Given the description of an element on the screen output the (x, y) to click on. 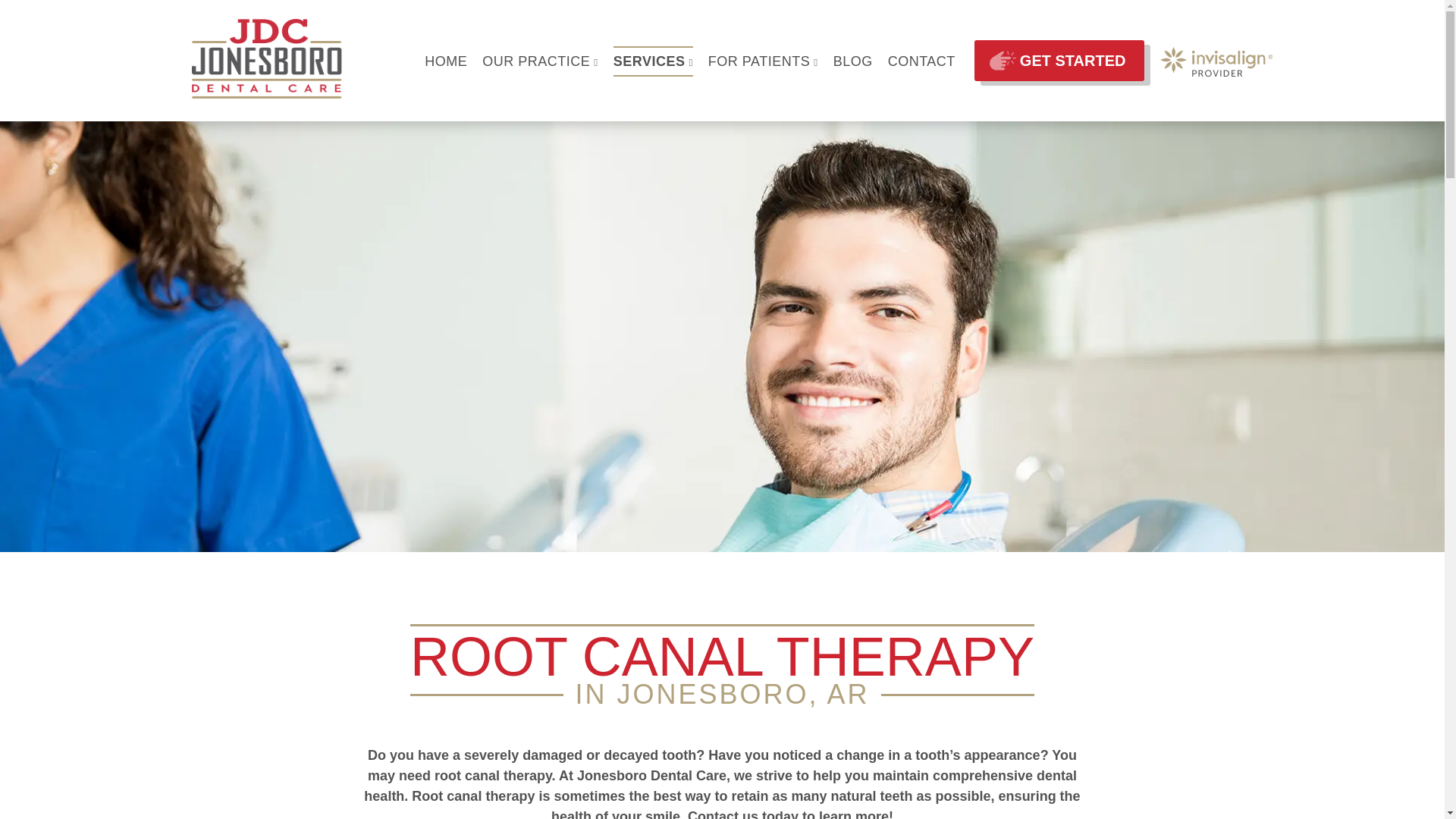
SERVICES (652, 60)
OUR PRACTICE (538, 61)
BLOG (852, 61)
CONTACT (921, 61)
FOR PATIENTS (762, 61)
GET STARTED (1059, 60)
HOME (446, 61)
